Given the description of an element on the screen output the (x, y) to click on. 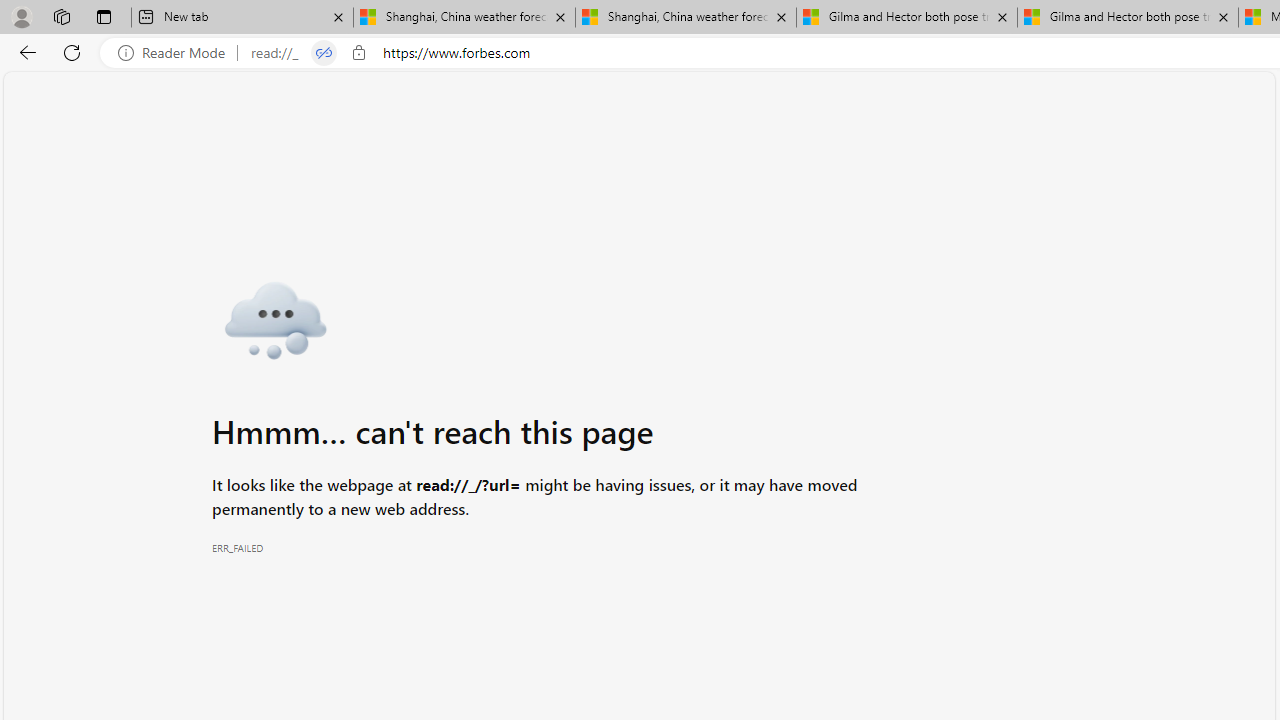
Gilma and Hector both pose tropical trouble for Hawaii (1127, 17)
Reader Mode (177, 53)
Tabs in split screen (323, 53)
Shanghai, China weather forecast | Microsoft Weather (686, 17)
